Given the description of an element on the screen output the (x, y) to click on. 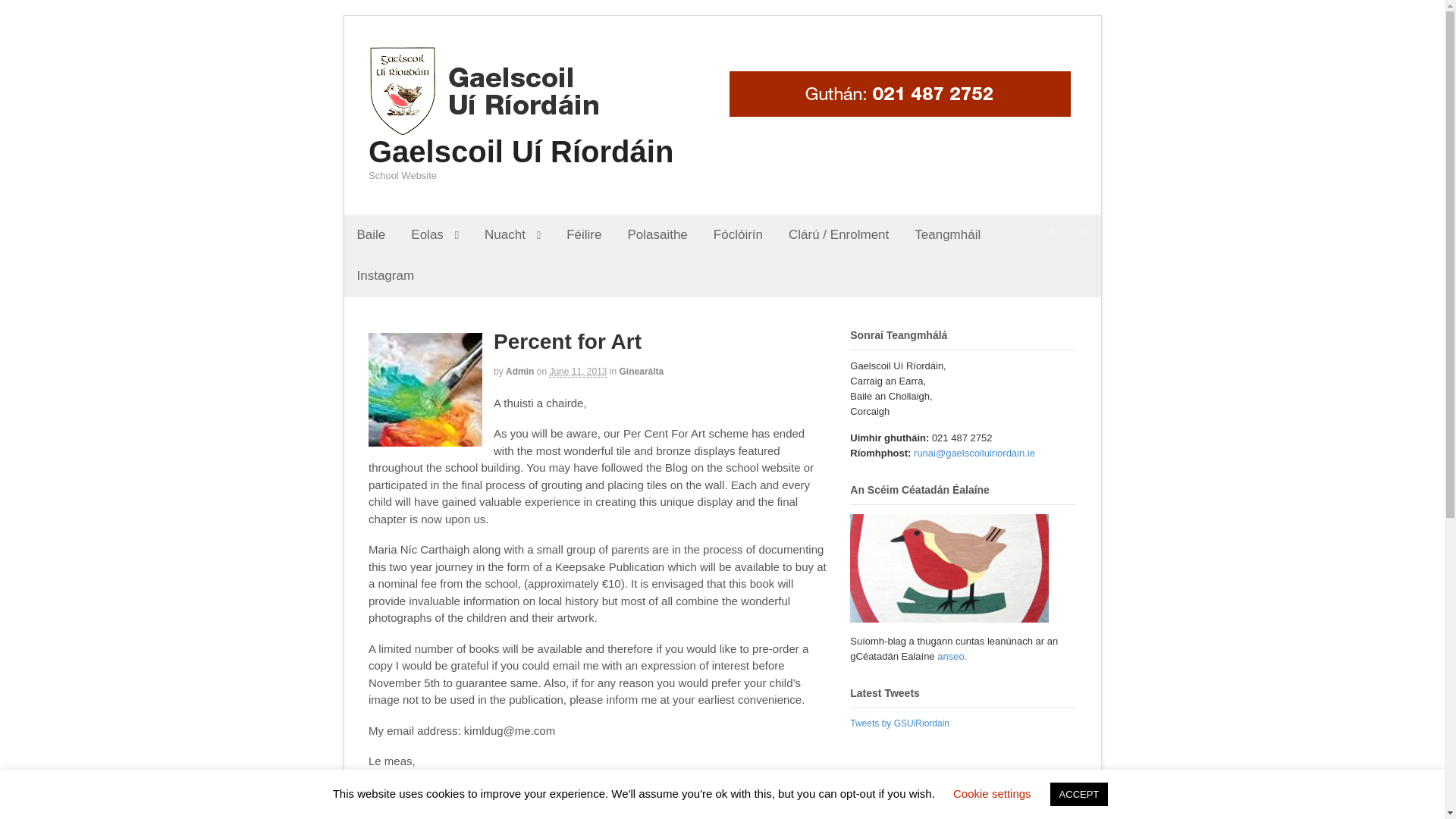
Nuacht (512, 234)
anseo. (951, 655)
Eolas (434, 234)
Tweet (383, 817)
Polasaithe (657, 234)
Posts by admin (519, 371)
School Website (483, 128)
Admin (519, 371)
Instagram (385, 275)
Baile (370, 234)
